Given the description of an element on the screen output the (x, y) to click on. 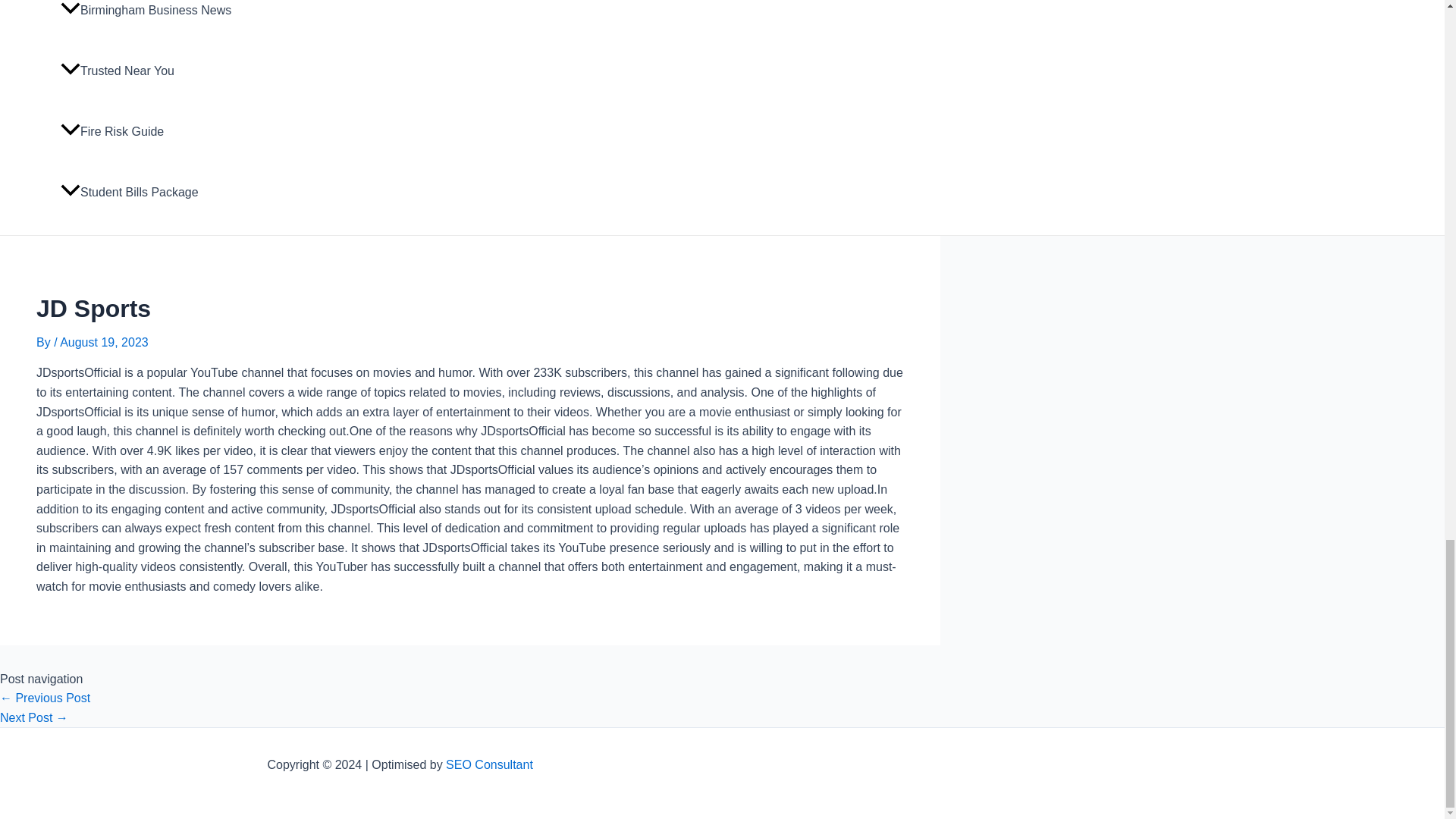
Birmingham Business News (151, 20)
Fire Risk Guide (151, 131)
Student Bills Package (151, 192)
Trusted Near You (151, 70)
